Given the description of an element on the screen output the (x, y) to click on. 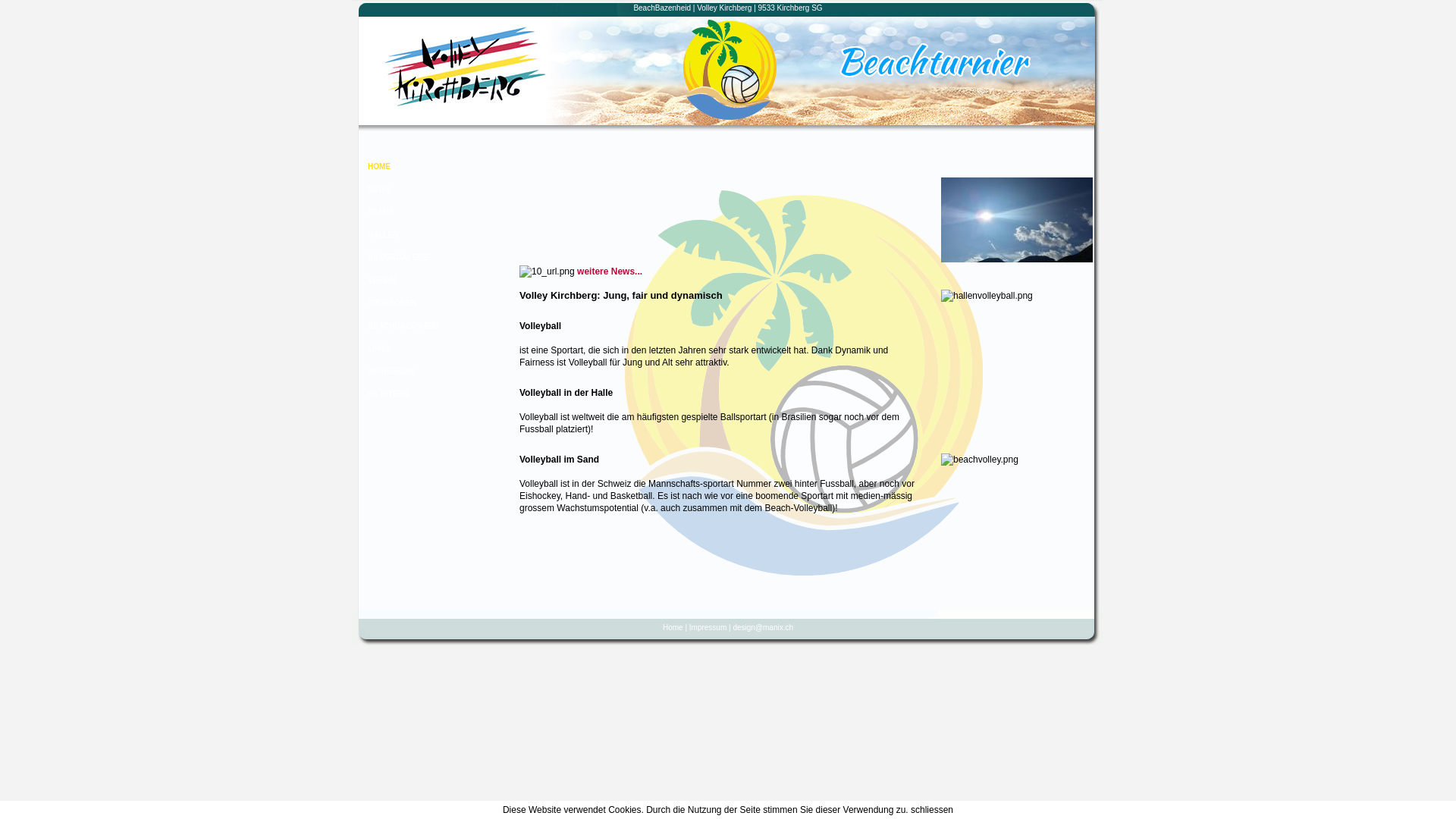
web_start_1.jpg Element type: hover (1016, 219)
VK INTERN Element type: text (428, 393)
TEAMS Element type: text (428, 211)
NEWS Element type: text (428, 189)
hallenvolleyball.png Element type: hover (986, 295)
VEREIN Element type: text (428, 280)
HOME Element type: text (428, 166)
weitere News... Element type: text (609, 271)
design@manix.ch Element type: text (762, 626)
LINKS Element type: text (428, 348)
10_url.png Element type: hover (546, 271)
HALLEN Element type: text (428, 234)
Impressum Element type: text (707, 626)
IMPRESSUM Element type: text (428, 371)
SPONSOREN Element type: text (428, 302)
Home Element type: text (672, 626)
BILDERGALERIE Element type: text (428, 257)
beachvolley.png Element type: hover (979, 459)
BEACHBAZENHEID Element type: text (428, 325)
